Given the description of an element on the screen output the (x, y) to click on. 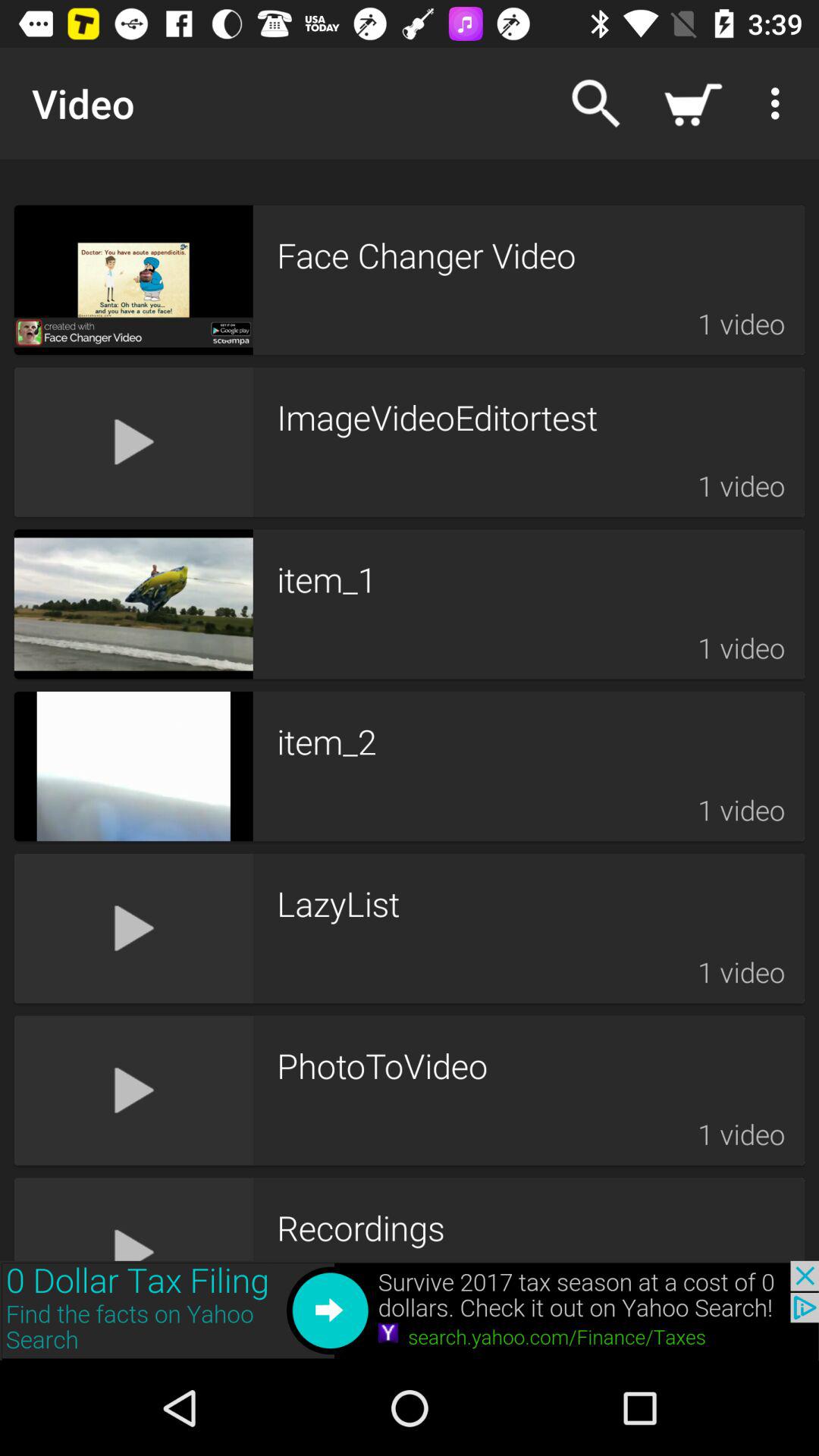
right (409, 1310)
